Given the description of an element on the screen output the (x, y) to click on. 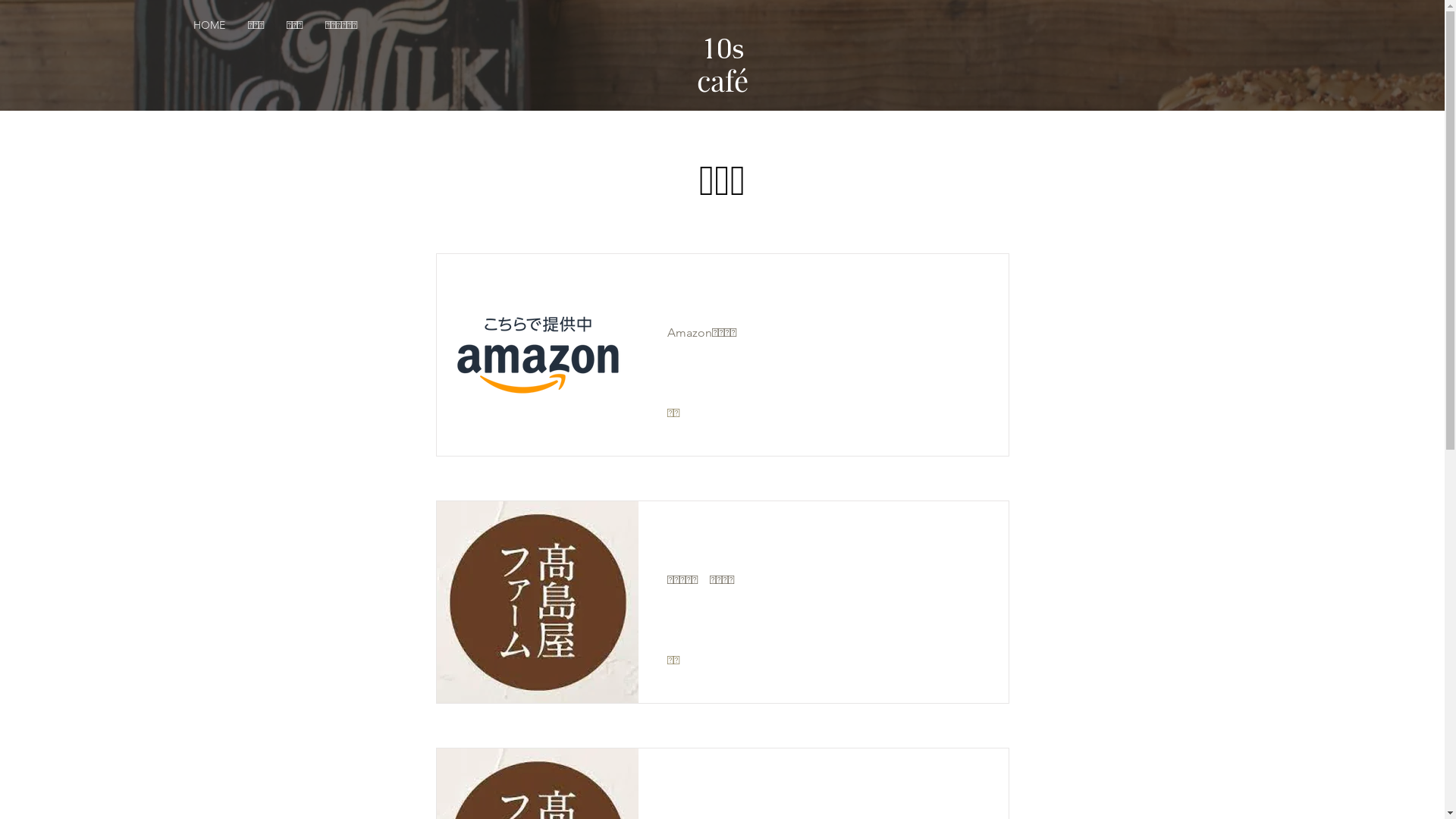
HOME Element type: text (209, 24)
AmazonLogoTM._CB1198675309_.png Element type: hover (537, 354)
